Given the description of an element on the screen output the (x, y) to click on. 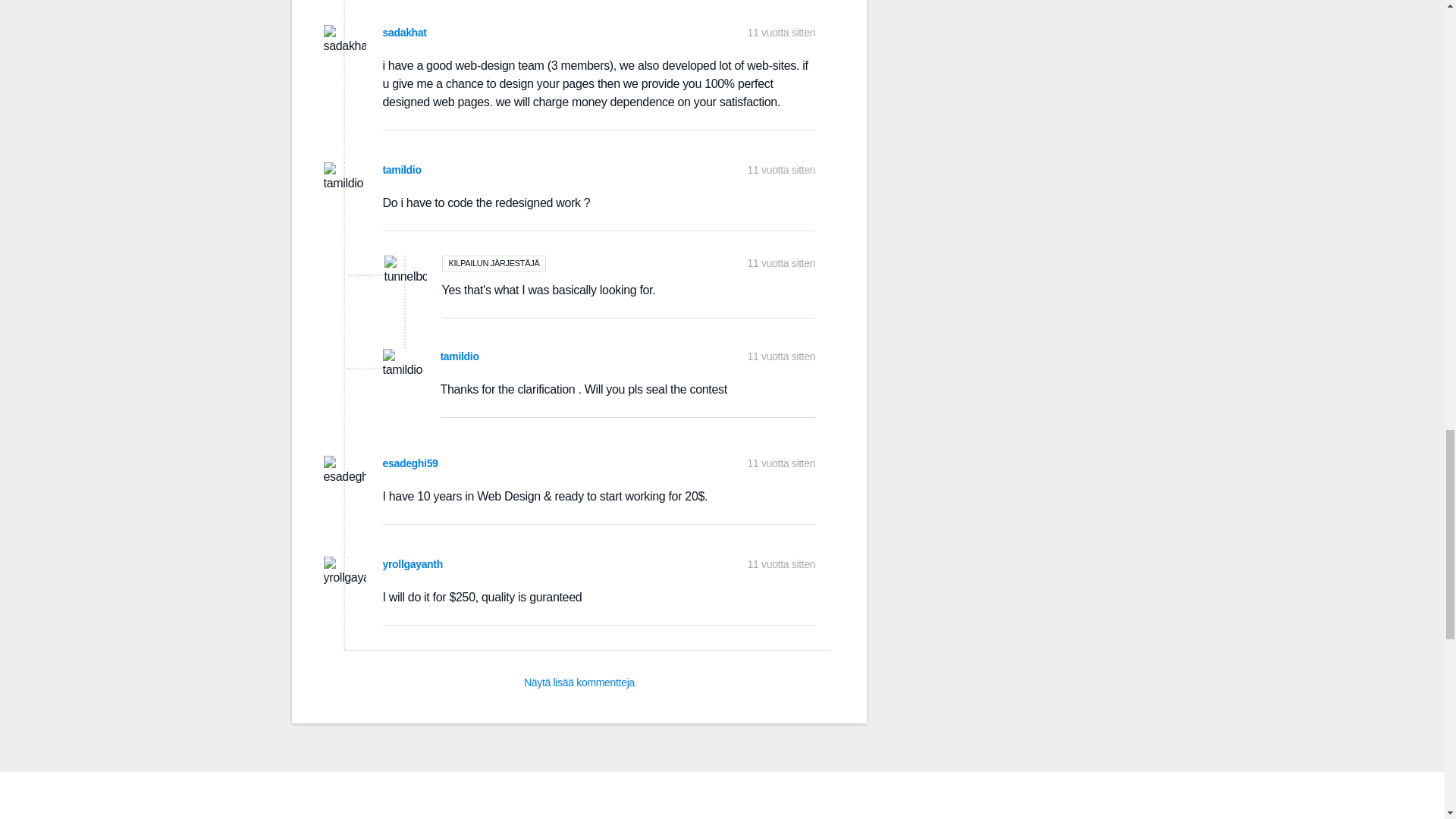
esadeghi59 (409, 463)
tamildio (459, 356)
sadakhat (403, 32)
tamildio (400, 169)
yrollgayanth (411, 563)
